Given the description of an element on the screen output the (x, y) to click on. 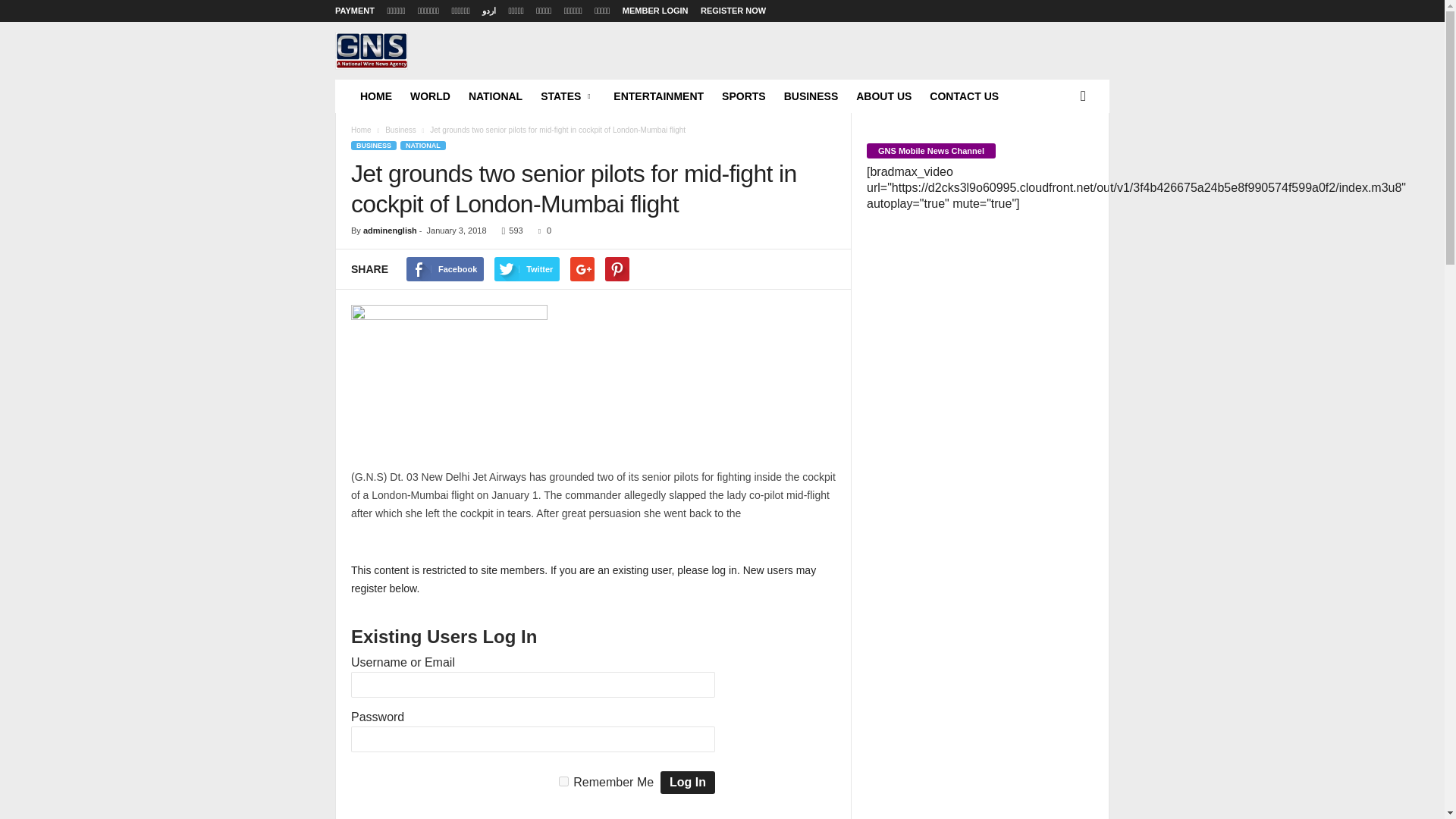
PAYMENT (354, 10)
GNS News (370, 50)
REGISTER NOW (732, 10)
MEMBER LOGIN (655, 10)
Log In (687, 782)
jet-airways (448, 378)
View all posts in Business (400, 130)
GNS News (437, 70)
forever (564, 781)
